Given the description of an element on the screen output the (x, y) to click on. 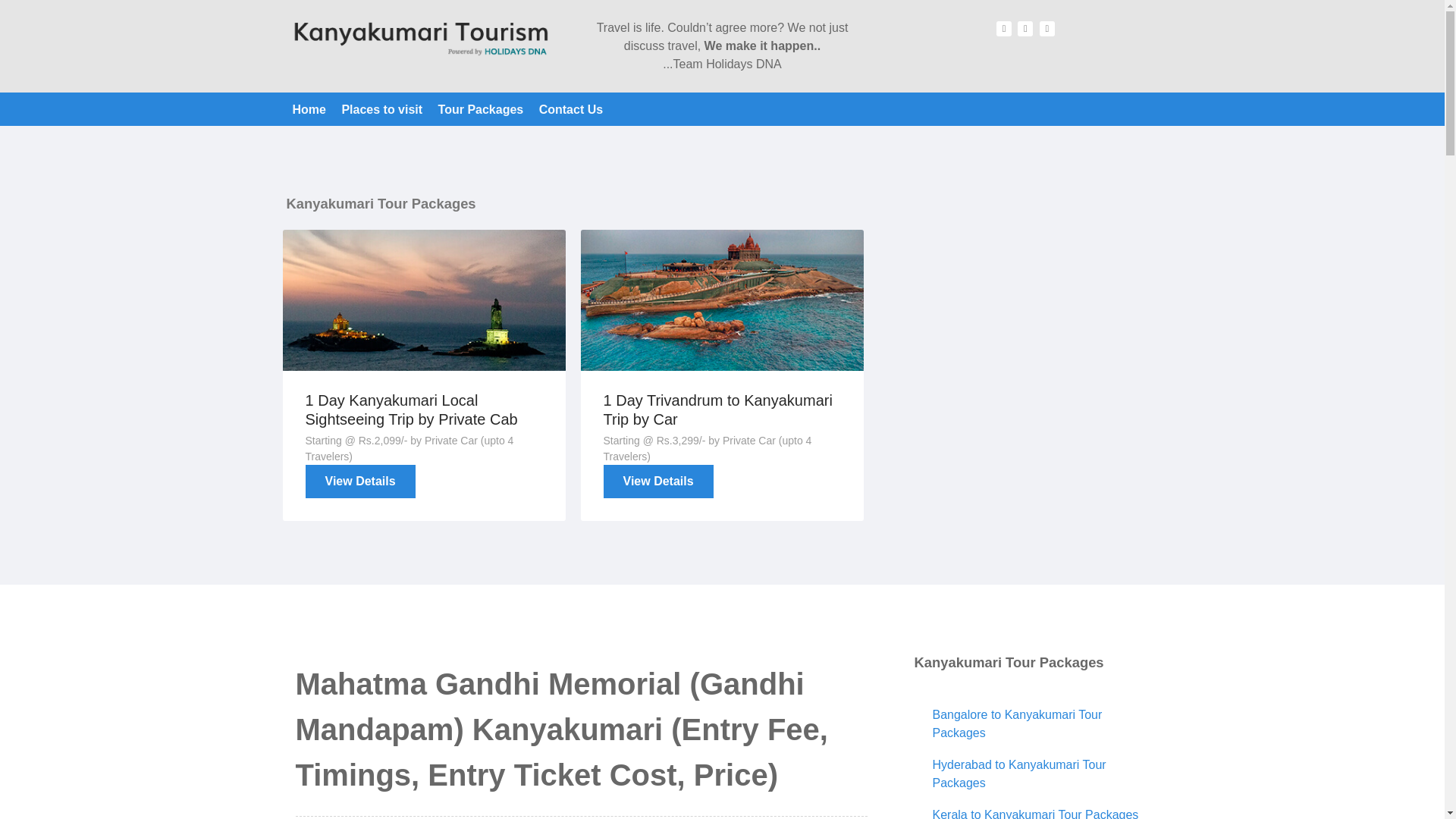
Hyderabad to Kanyakumari Tour Packages (1019, 773)
Home (309, 110)
Places to visit (381, 110)
Bangalore to Kanyakumari Tour Packages (1017, 723)
1 Day Trivandrum to Kanyakumari Trip by Car (718, 409)
View Details (359, 481)
View Details (359, 481)
1 Day Kanyakumari Local Sightseeing Trip by Private Cab (411, 409)
Contact Us (570, 110)
Kanyakumari Tourism (420, 37)
View Details (658, 481)
View Details (658, 481)
Tourist Sightseeing Places to visit in Kanyakumari (381, 110)
Kerala to Kanyakumari Tour Packages (1035, 813)
Tour Packages (481, 110)
